Given the description of an element on the screen output the (x, y) to click on. 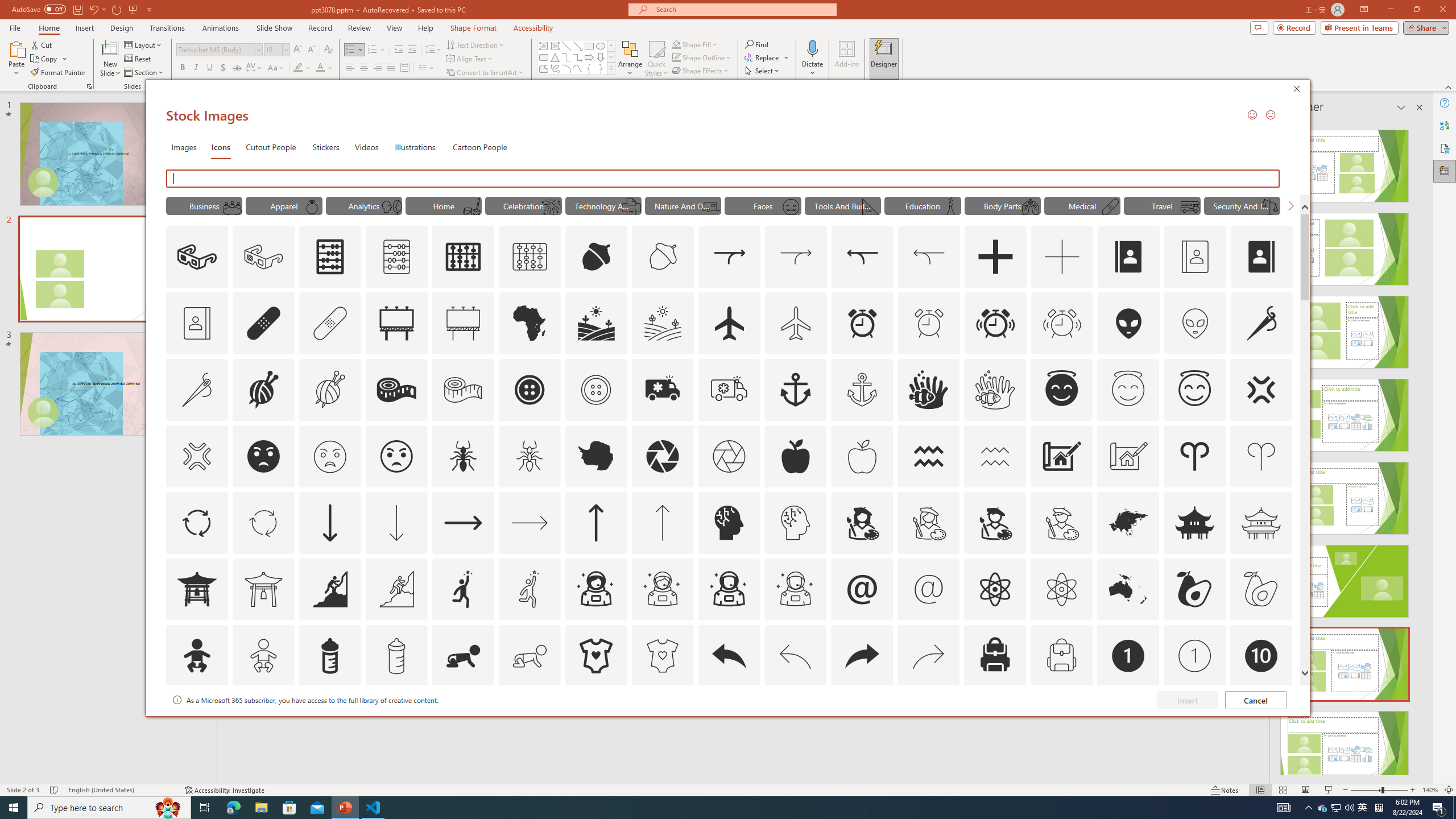
AutomationID: Icons_At (861, 588)
AutomationID: Icons_Flask_M (950, 206)
Cartoon People (479, 146)
AutomationID: Icons_AngryFace (263, 455)
AutomationID: Icons_Aperture_M (729, 455)
AutomationID: Icons_Meeting_M (231, 206)
